Given the description of an element on the screen output the (x, y) to click on. 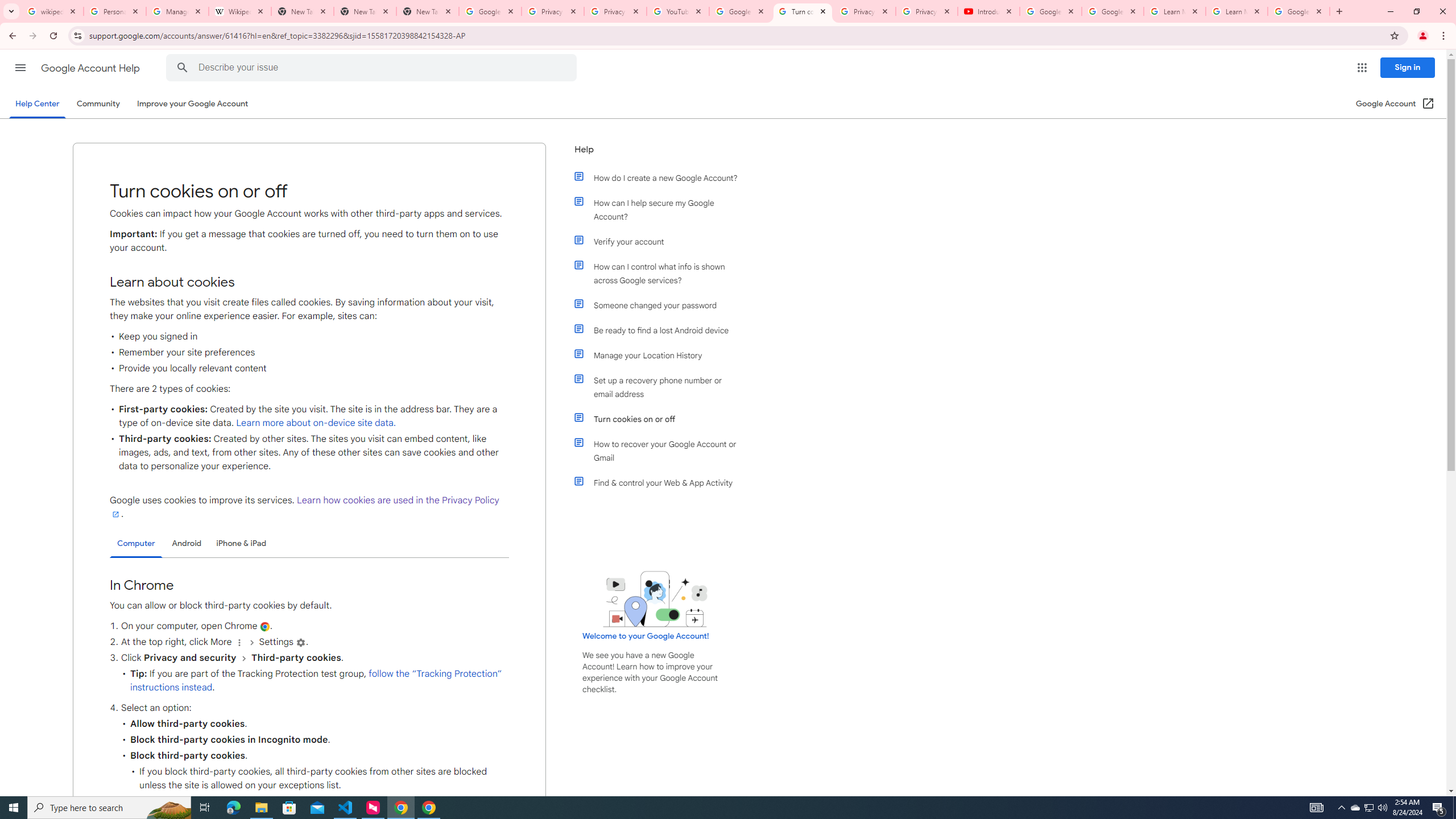
Computer (136, 543)
and then (243, 657)
Find & control your Web & App Activity (661, 482)
Community (97, 103)
Manage your Location History (661, 355)
Google Account (1298, 11)
Set up a recovery phone number or email address (661, 387)
Google Account Help (1050, 11)
Personalization & Google Search results - Google Search Help (114, 11)
Describe your issue (373, 67)
